Given the description of an element on the screen output the (x, y) to click on. 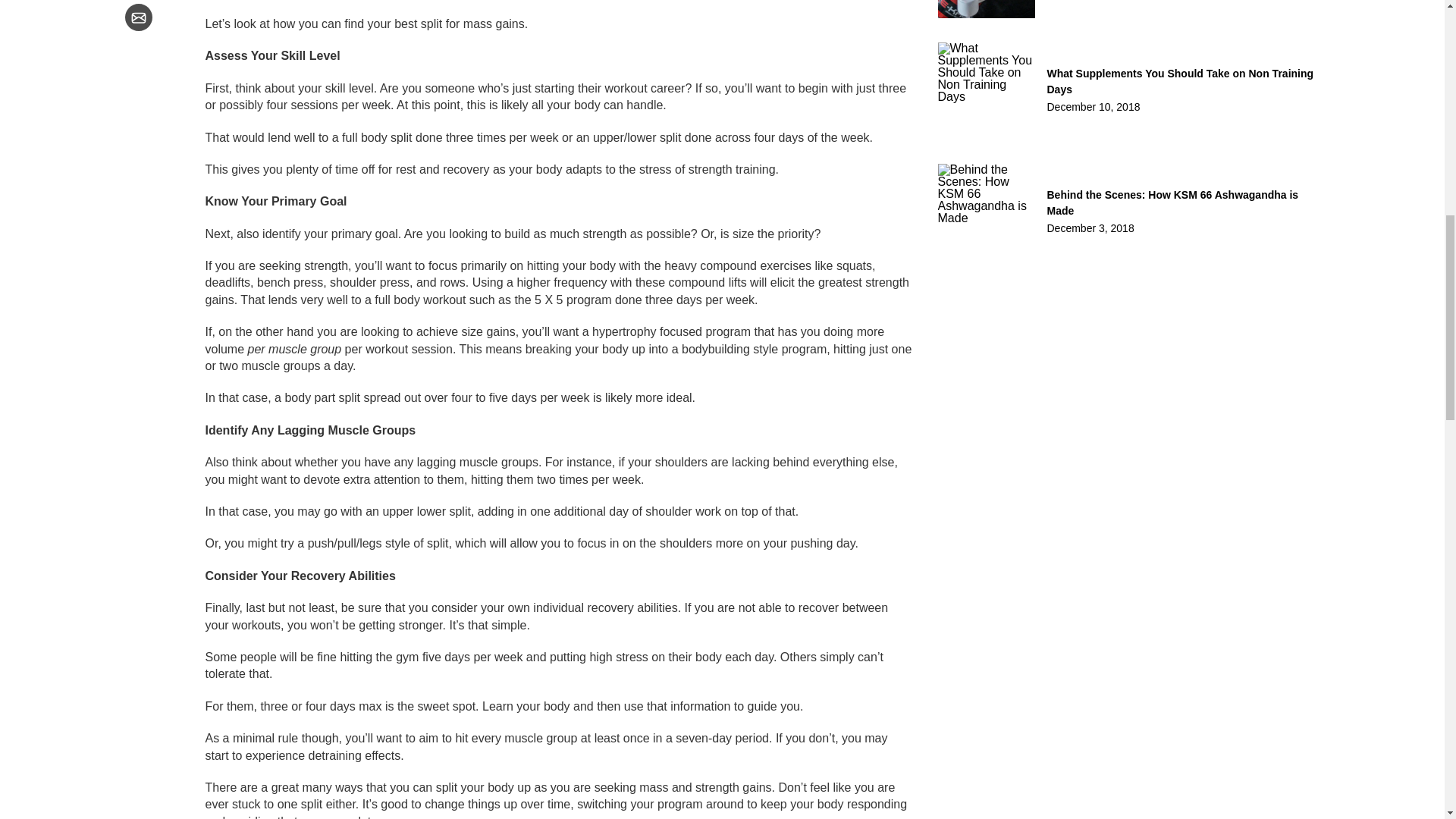
Share via Email (137, 17)
